Given the description of an element on the screen output the (x, y) to click on. 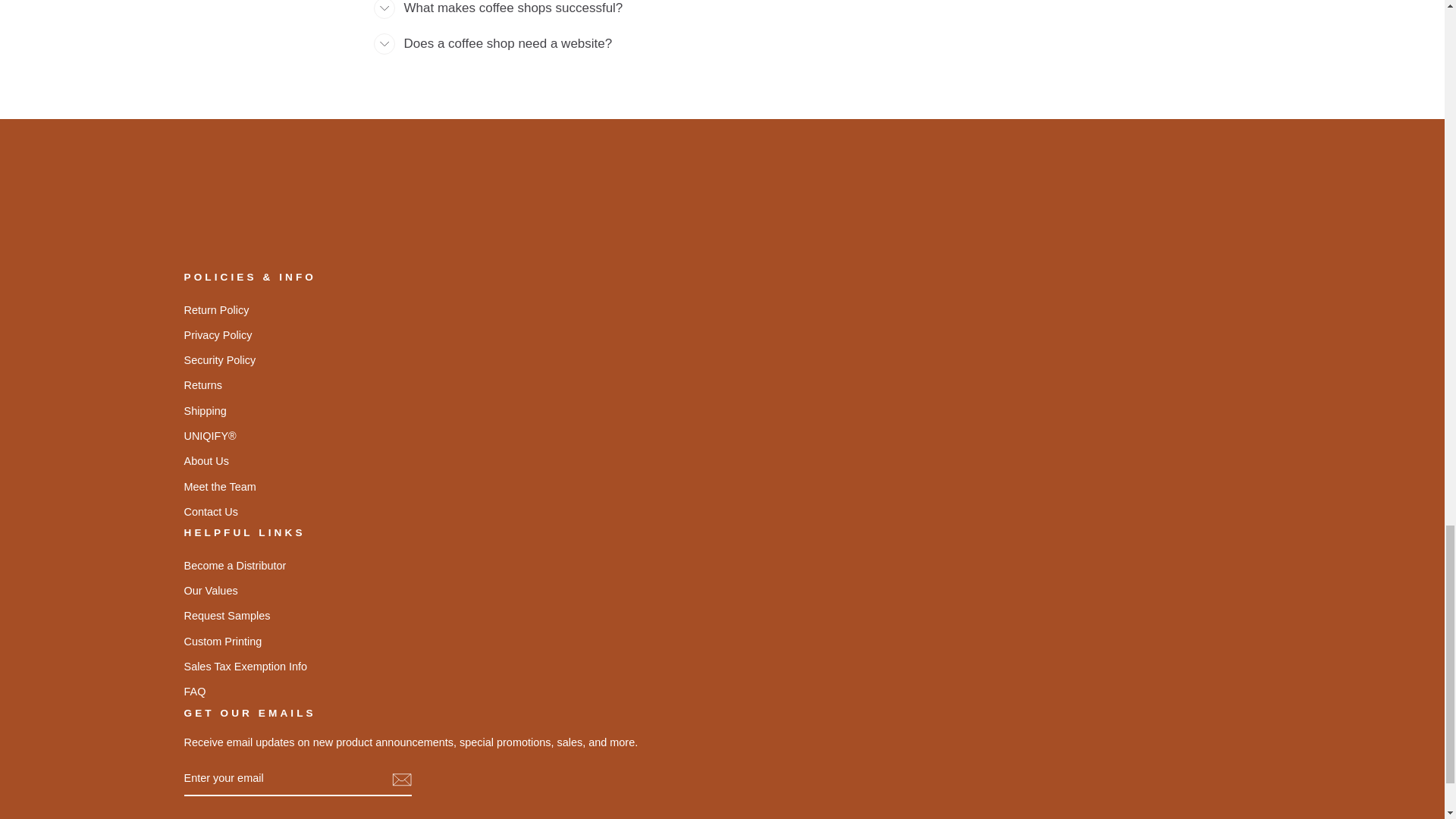
icon-email (400, 779)
